Given the description of an element on the screen output the (x, y) to click on. 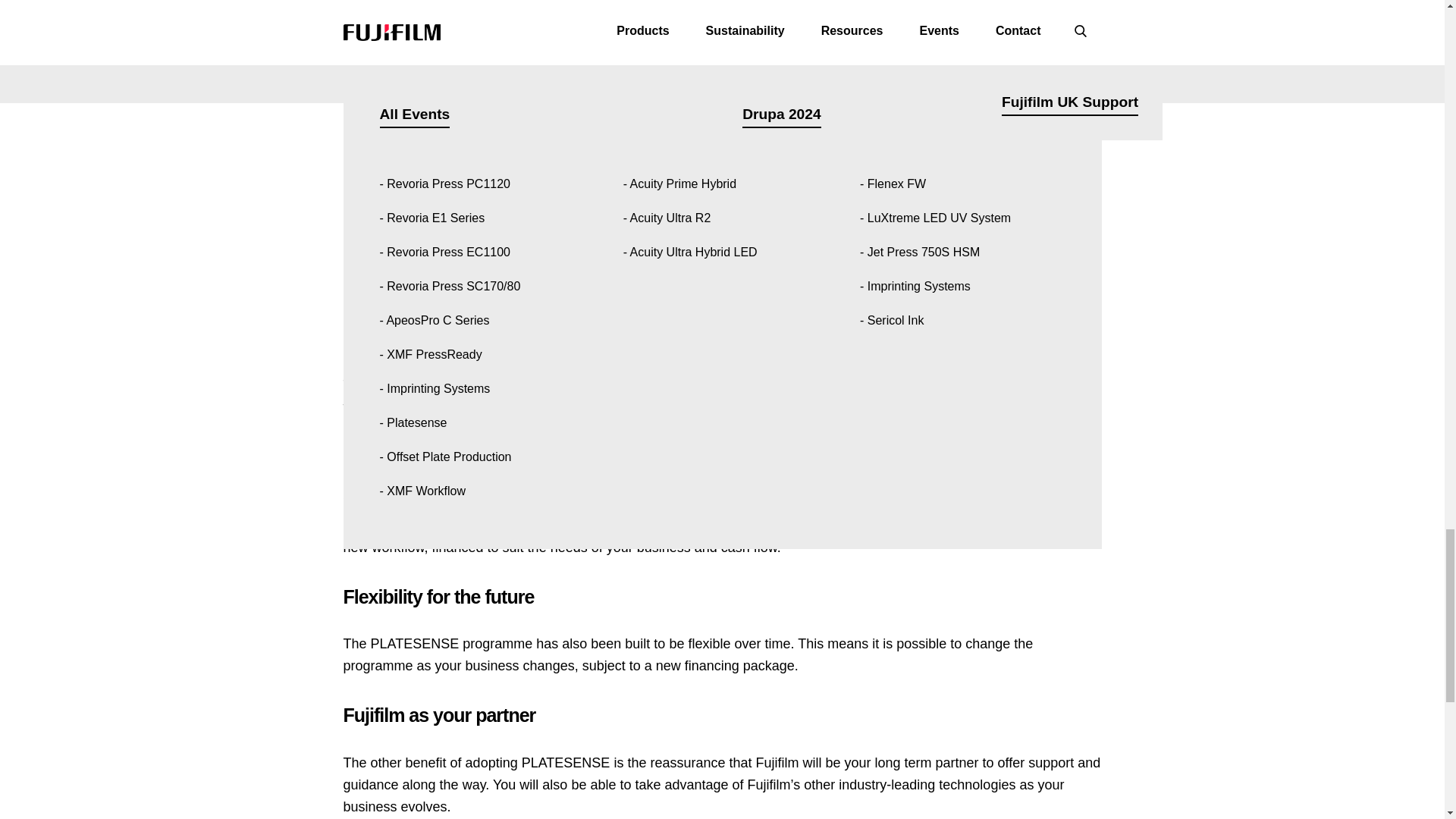
Read case study (635, 106)
